Given the description of an element on the screen output the (x, y) to click on. 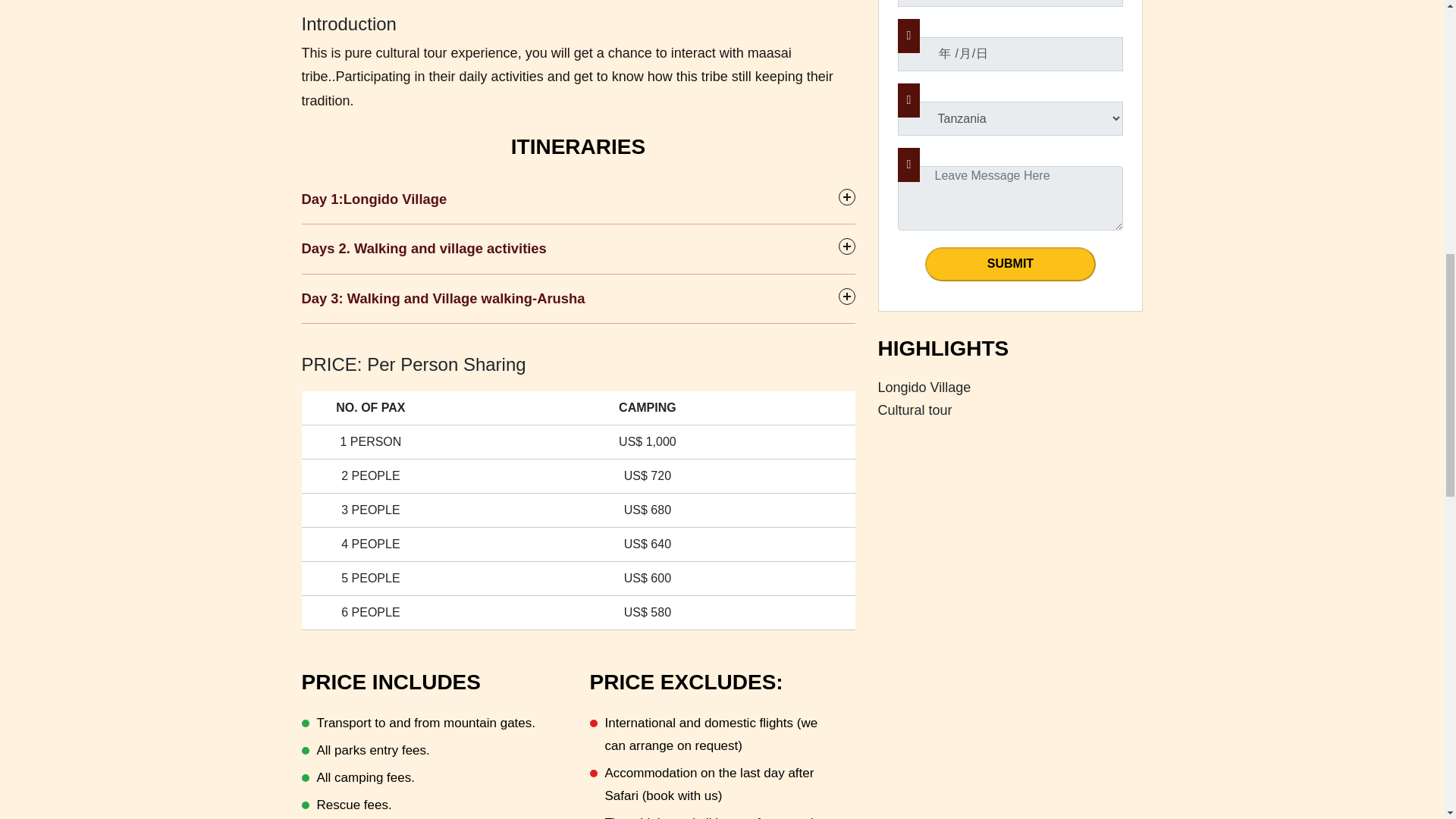
Days 2. Walking and village activities (578, 248)
Day 3: Walking and Village walking-Arusha (578, 298)
Submit (1010, 264)
Submit (1010, 264)
Day 1:Longido Village (578, 199)
